Given the description of an element on the screen output the (x, y) to click on. 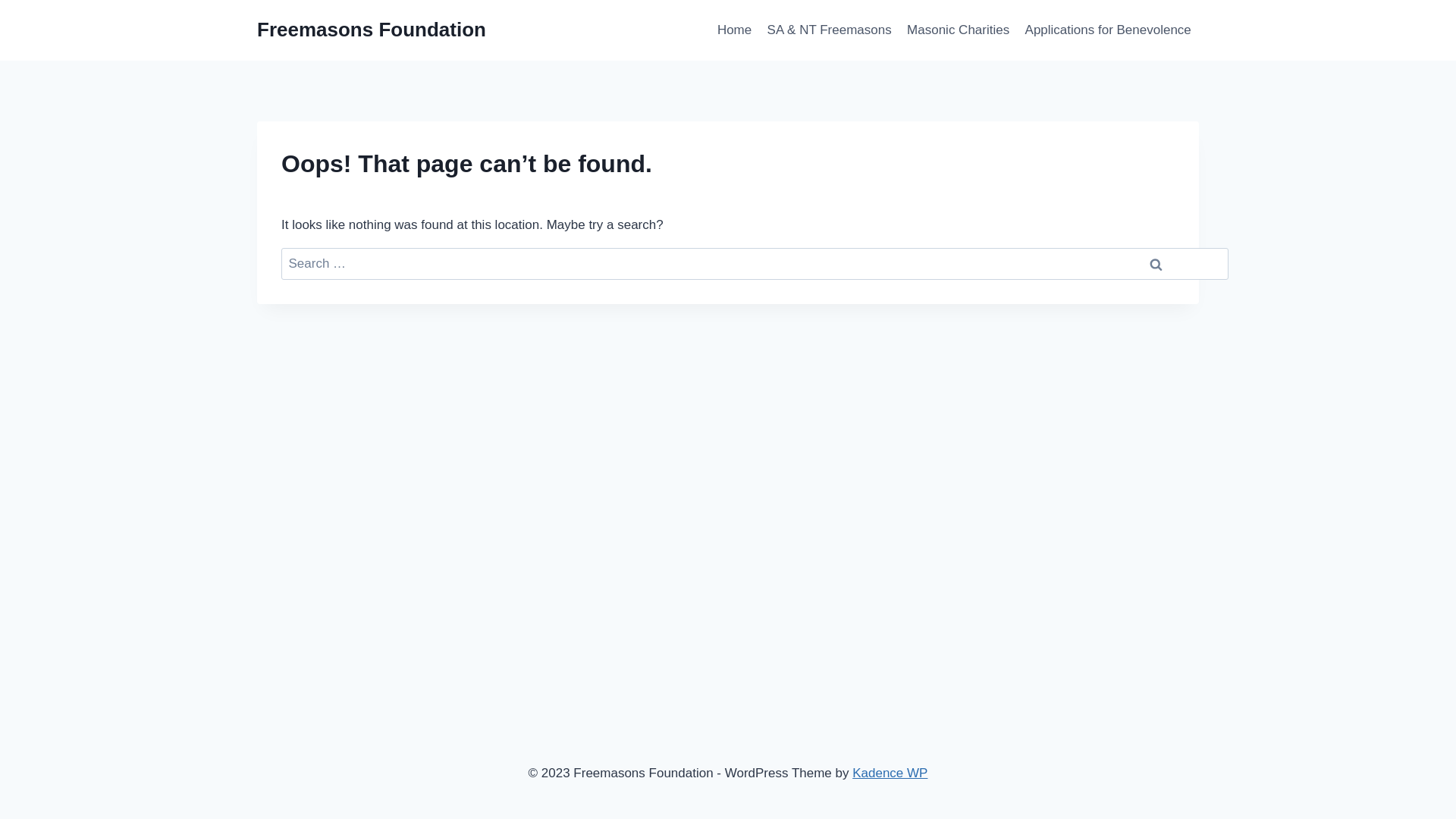
Kadence WP Element type: text (889, 772)
Applications for Benevolence Element type: text (1107, 30)
SA & NT Freemasons Element type: text (828, 30)
Search Element type: text (1155, 263)
Freemasons Foundation Element type: text (371, 29)
Masonic Charities Element type: text (957, 30)
Home Element type: text (734, 30)
